Given the description of an element on the screen output the (x, y) to click on. 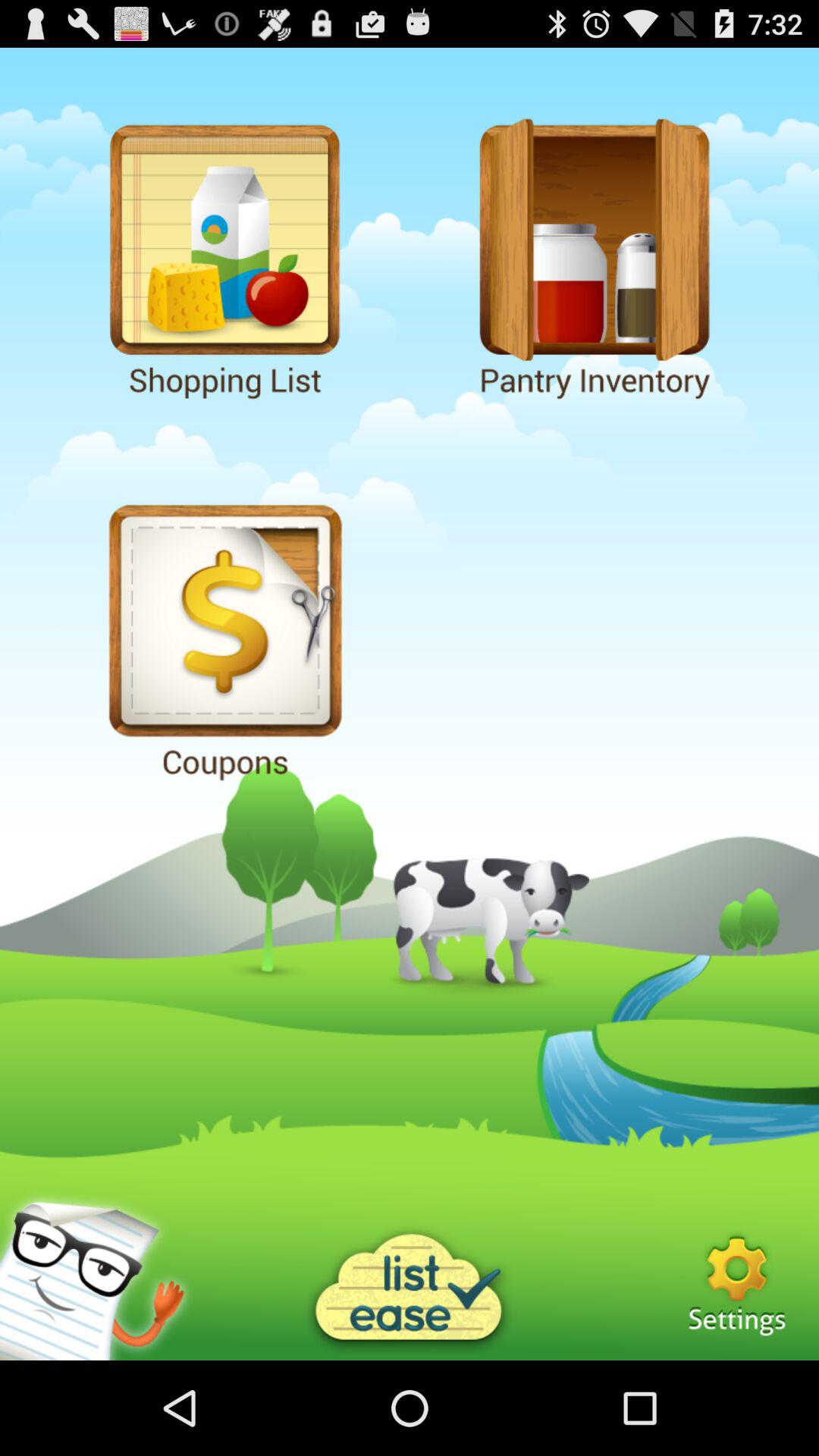
open item at the top left corner (224, 255)
